Given the description of an element on the screen output the (x, y) to click on. 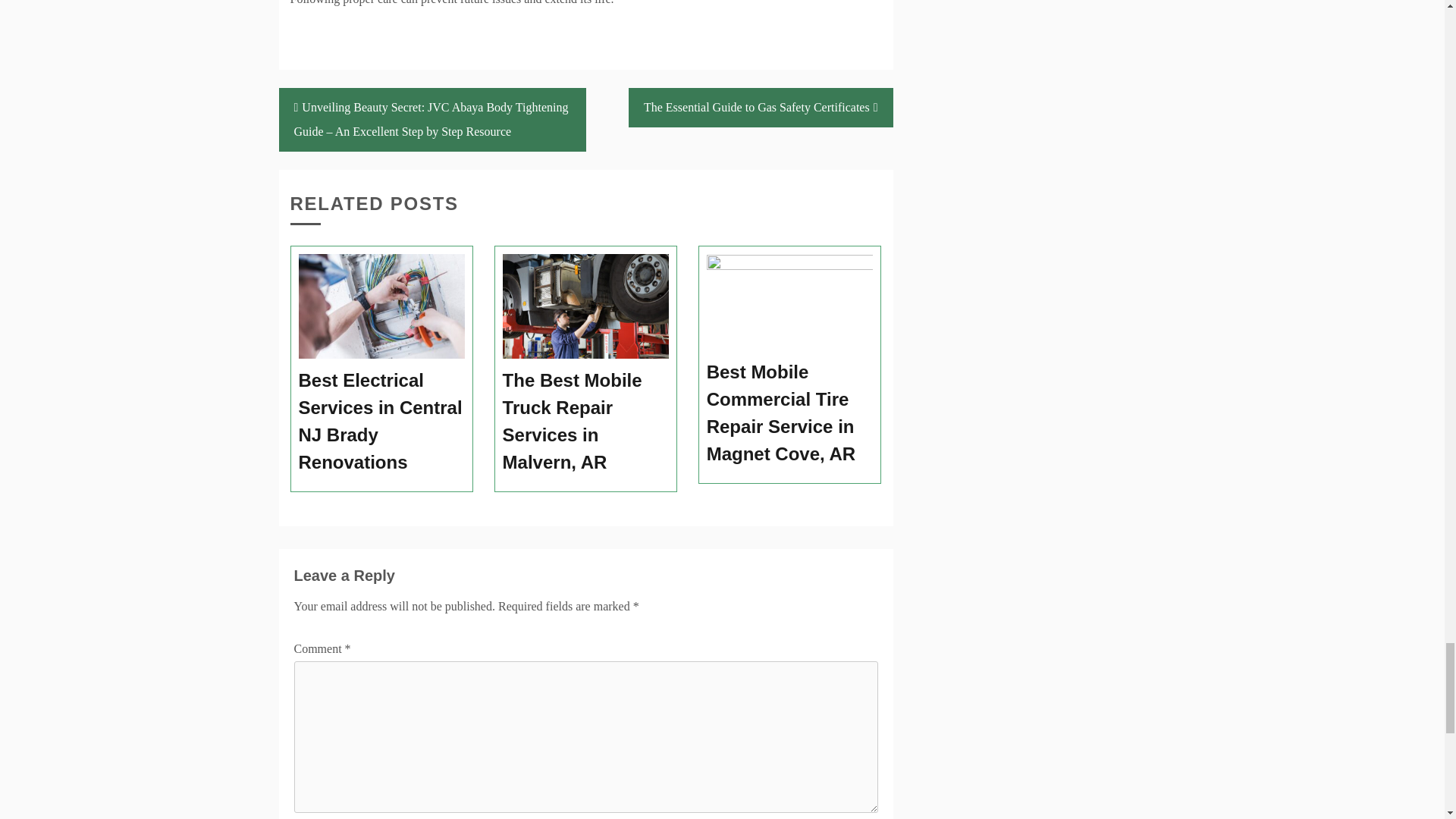
Best Electrical Services in Central NJ Brady Renovations (381, 420)
The Essential Guide to Gas Safety Certificates (760, 107)
The Best Mobile Truck Repair Services in Malvern, AR (585, 420)
